Given the description of an element on the screen output the (x, y) to click on. 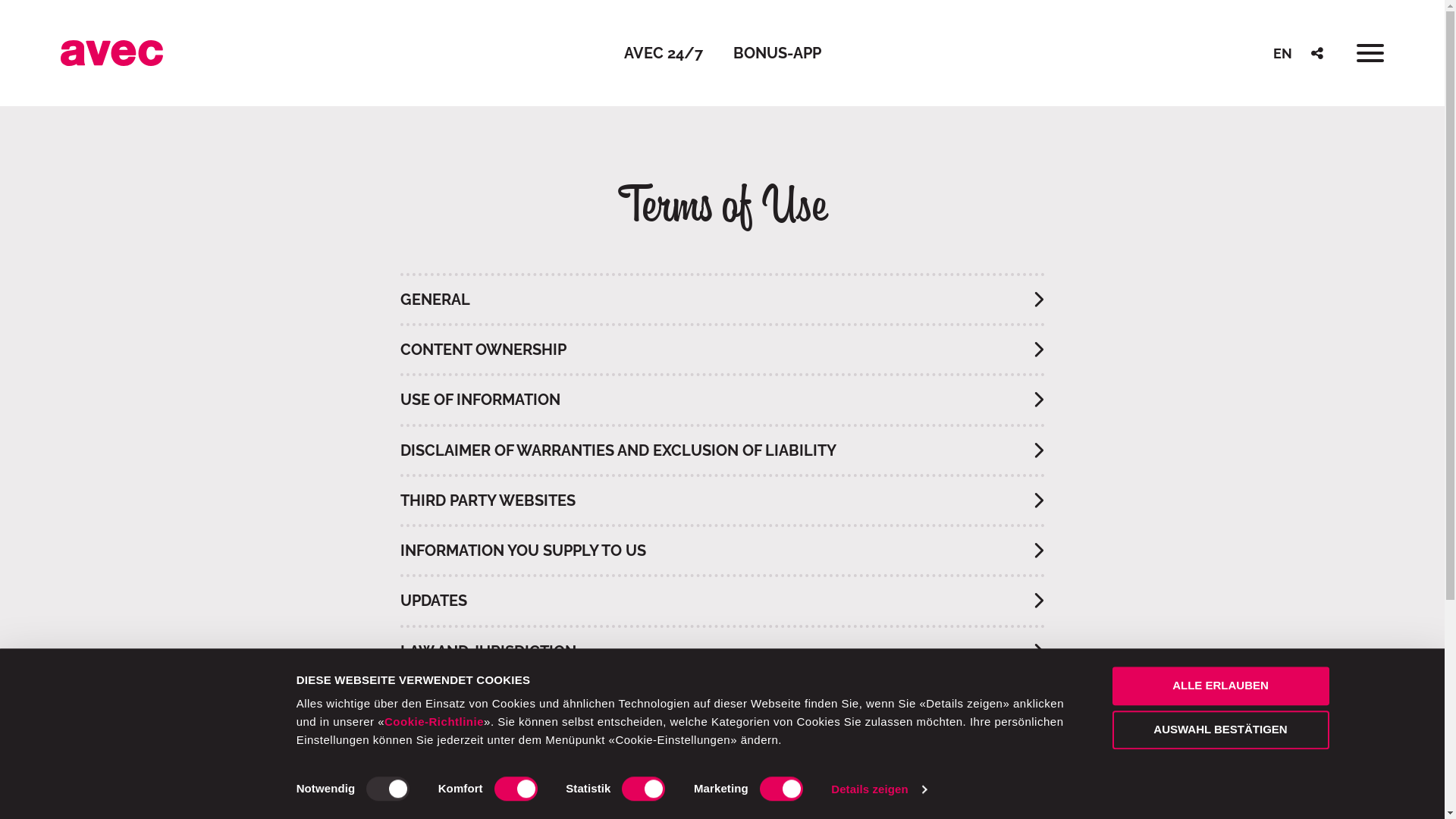
Cookie-Richtlinie Element type: text (433, 721)
AVEC 24/7 Element type: text (662, 52)
ALLE ERLAUBEN Element type: text (1219, 685)
EN Element type: text (1282, 52)
Details zeigen Element type: text (878, 789)
BONUS-APP Element type: text (776, 52)
